Given the description of an element on the screen output the (x, y) to click on. 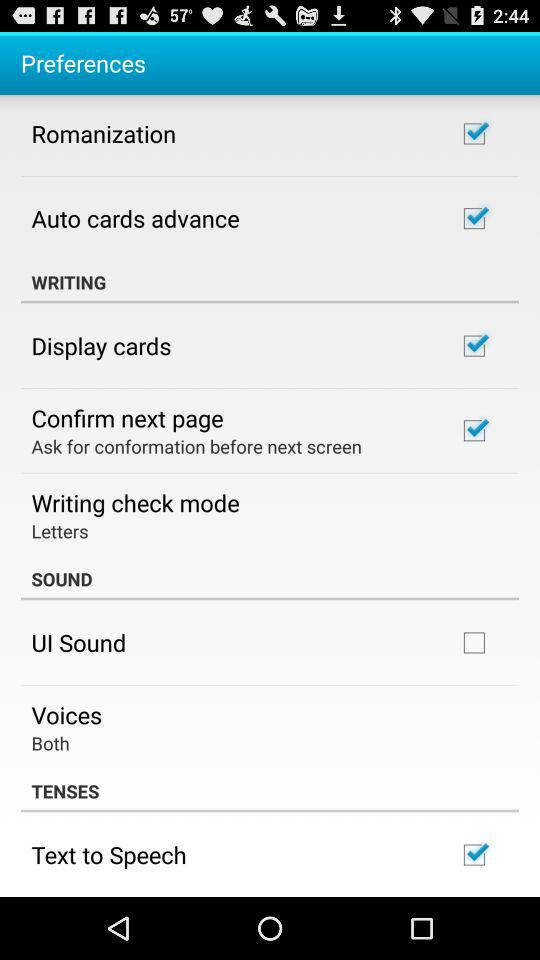
launch icon above voices item (78, 642)
